Given the description of an element on the screen output the (x, y) to click on. 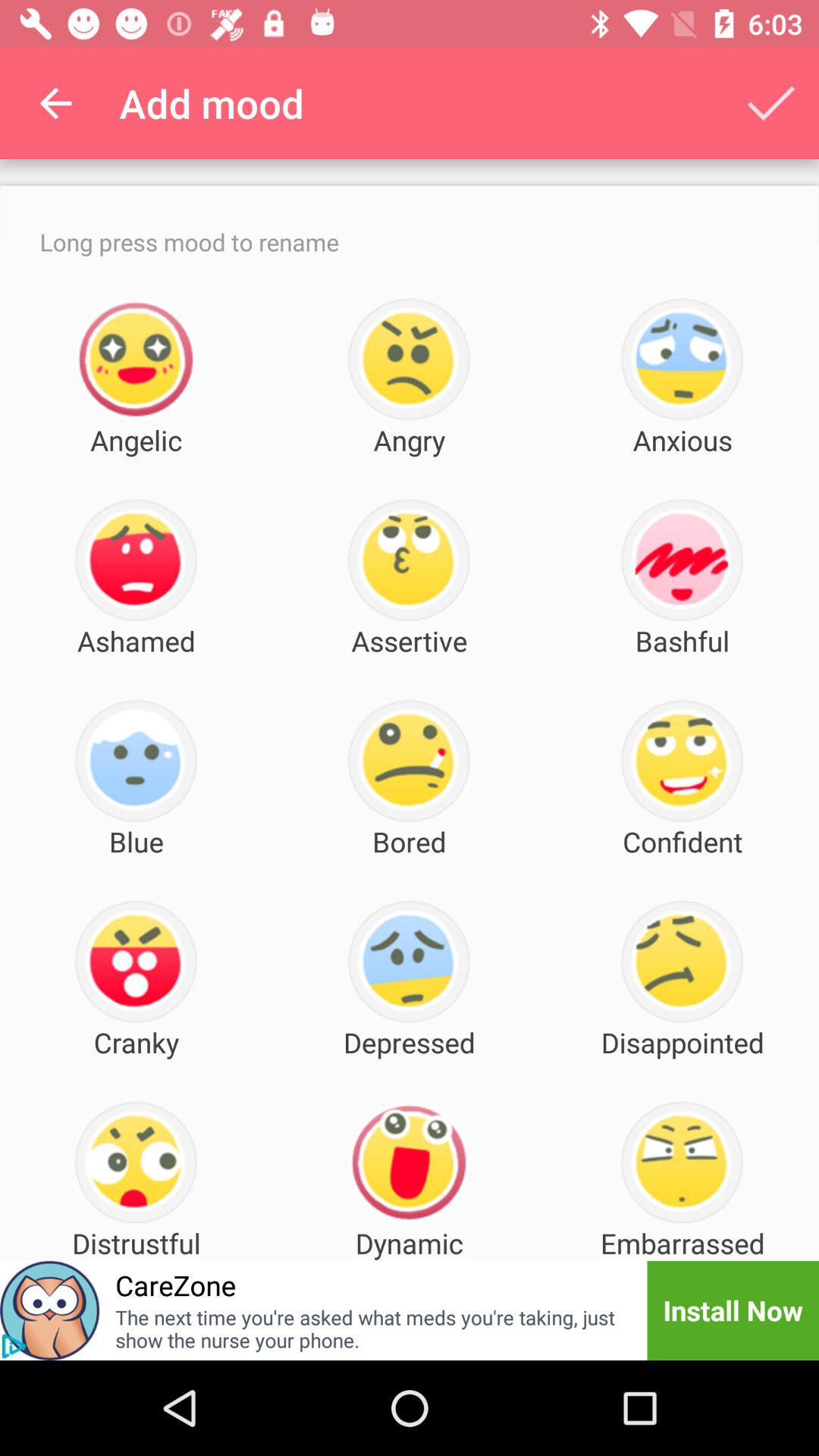
swipe until install now item (733, 1310)
